Given the description of an element on the screen output the (x, y) to click on. 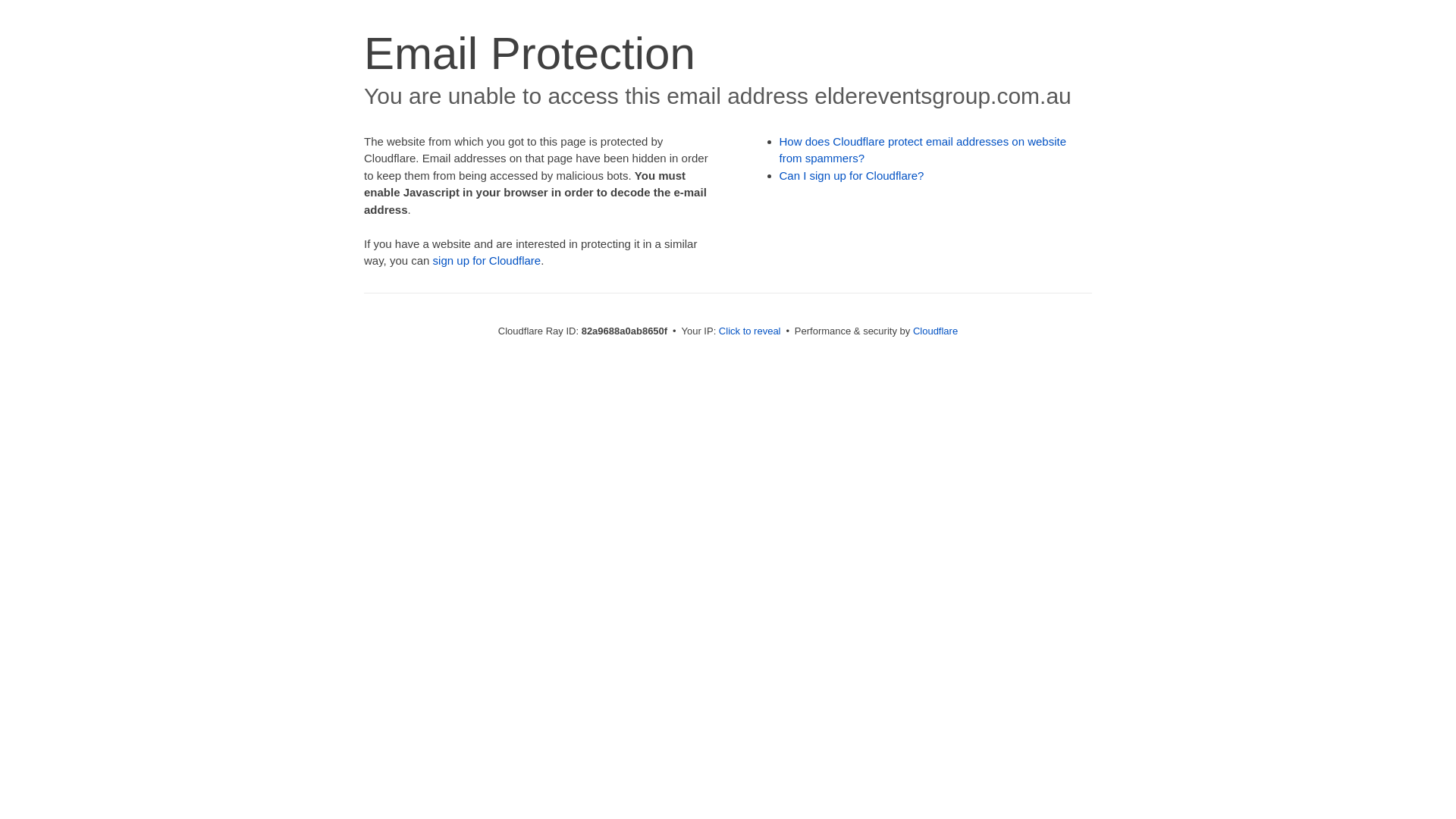
Cloudflare Element type: text (935, 330)
sign up for Cloudflare Element type: text (487, 260)
Click to reveal Element type: text (749, 330)
Can I sign up for Cloudflare? Element type: text (851, 175)
